Given the description of an element on the screen output the (x, y) to click on. 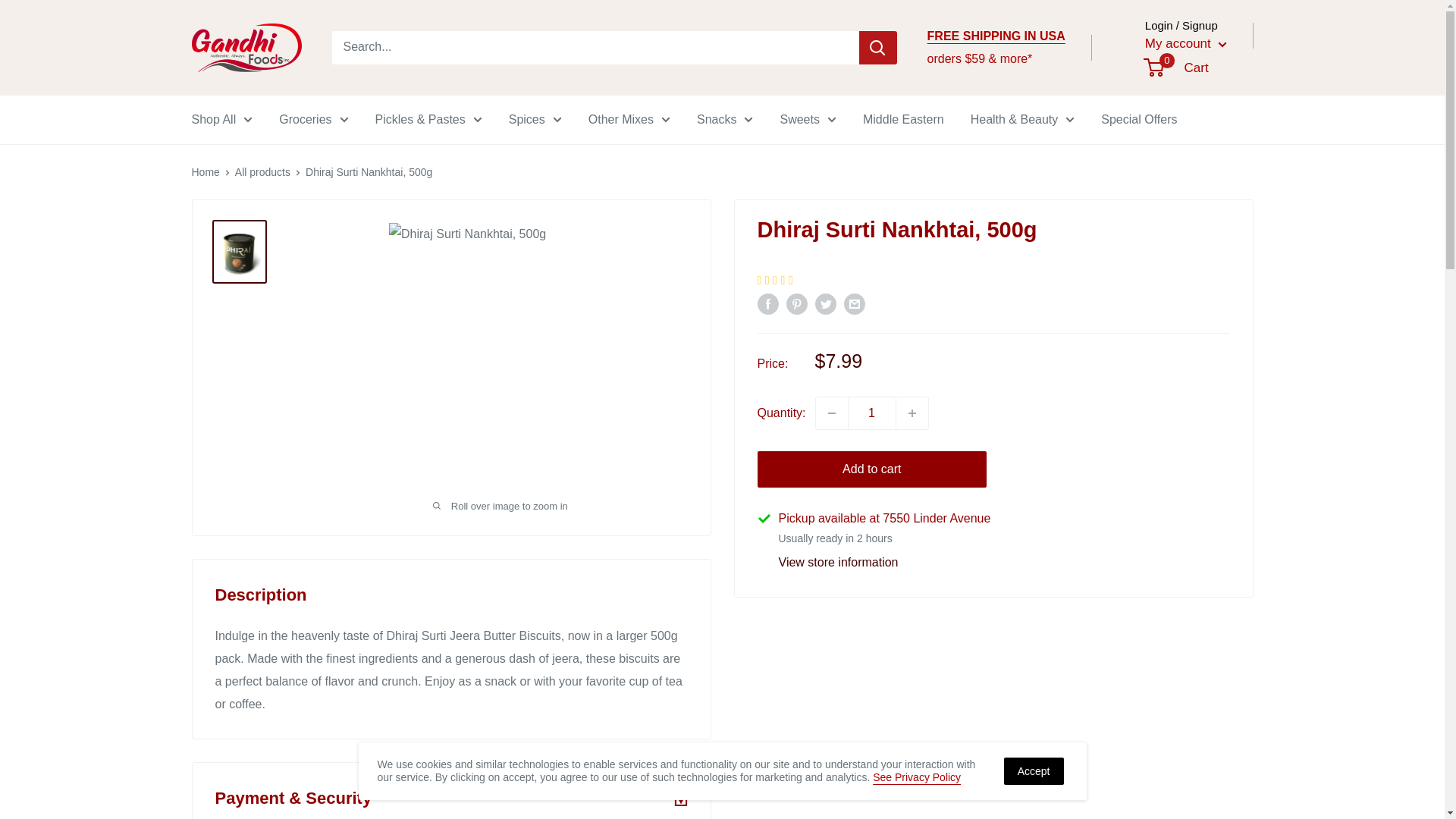
Decrease quantity by 1 (831, 413)
Privacy Policy (916, 776)
1 (871, 413)
Increase quantity by 1 (912, 413)
